Given the description of an element on the screen output the (x, y) to click on. 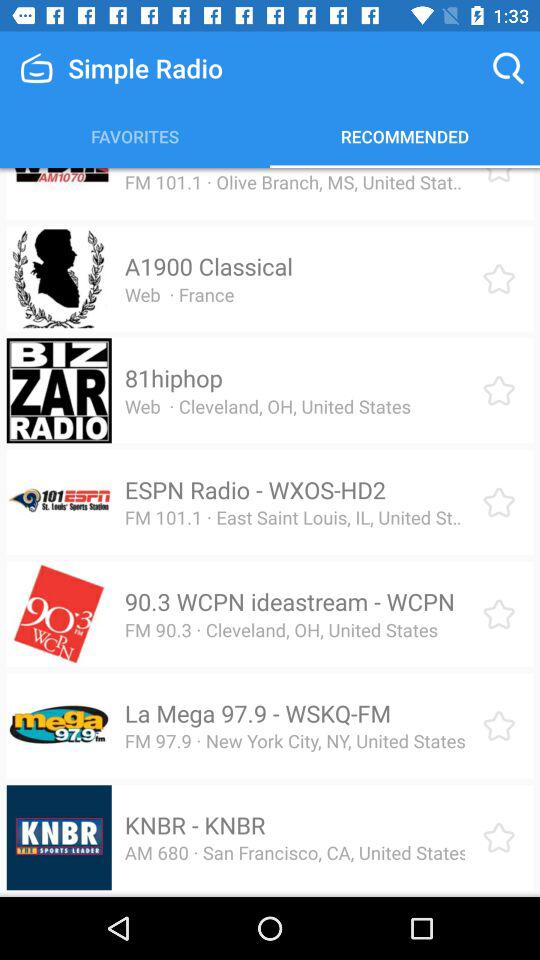
turn on la mega 97 icon (257, 713)
